Given the description of an element on the screen output the (x, y) to click on. 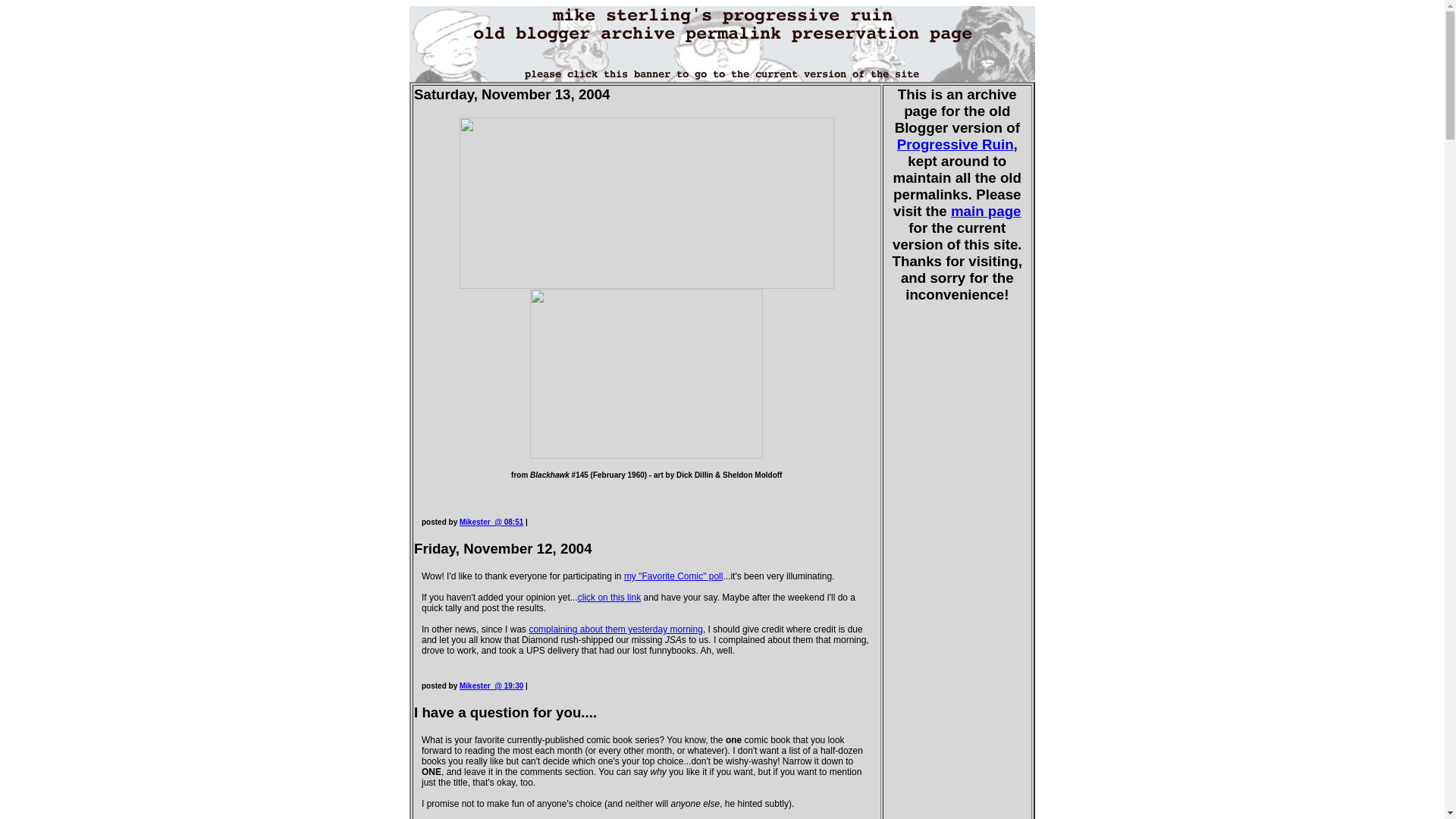
click on this link (609, 597)
my "Favorite Comic" poll (673, 575)
permanent link (491, 685)
I have a question for you....  (506, 712)
complaining about them yesterday morning (614, 629)
permanent link (491, 521)
Wow! I'd like to thank everyone for participating in (647, 575)
posted by (441, 521)
